Given the description of an element on the screen output the (x, y) to click on. 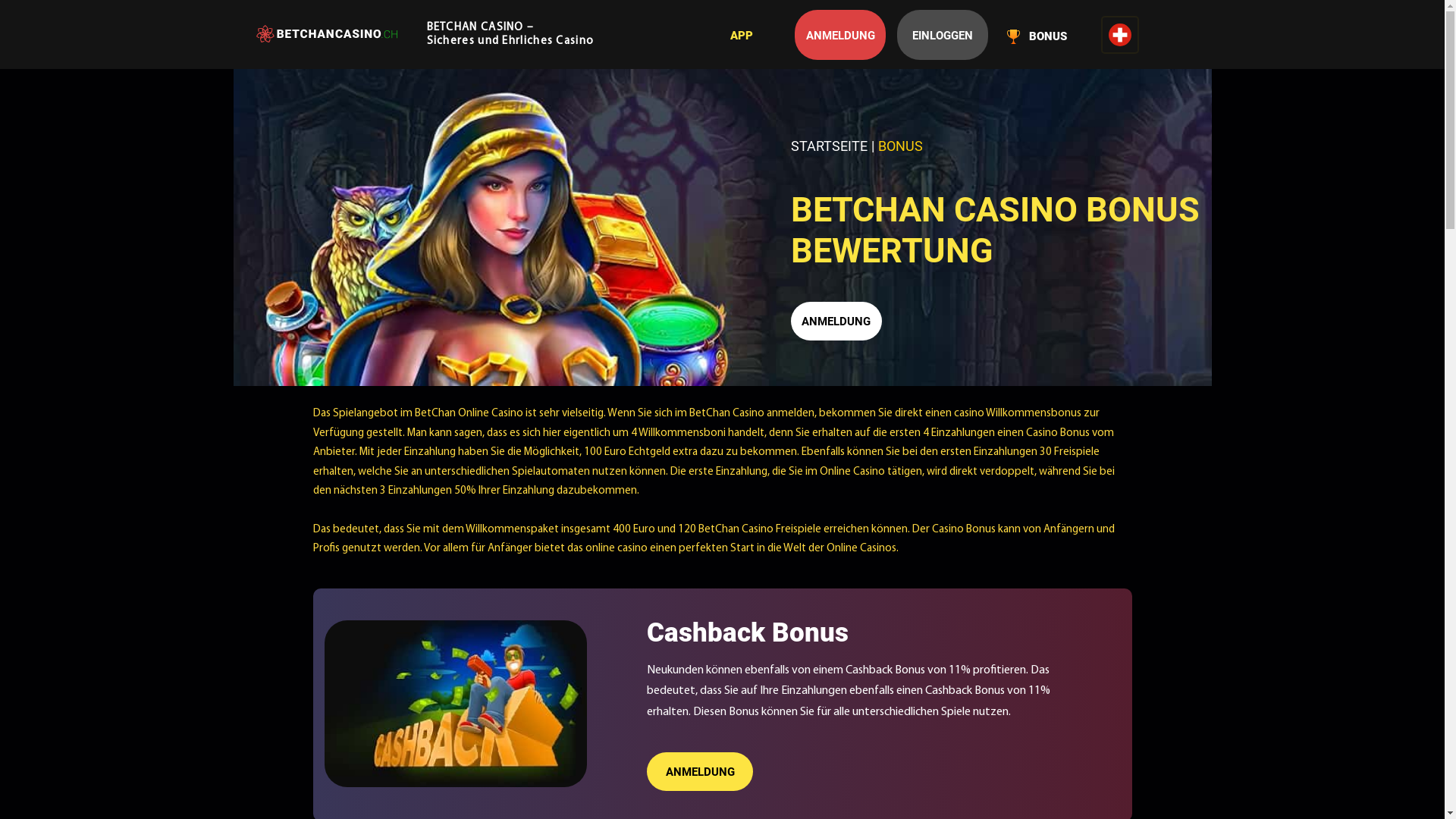
Cashback Bonus Betchan Online Casino Element type: hover (455, 703)
BONUS Element type: text (1036, 35)
ANMELDUNG Element type: text (839, 34)
APP Element type: text (741, 35)
ANMELDUNG Element type: text (699, 771)
EINLOGGEN Element type: text (942, 34)
bonuses Element type: hover (1013, 36)
Betchancasino.ch Logo Element type: hover (326, 33)
STARTSEITE Element type: text (828, 146)
ANMELDUNG Element type: text (835, 320)
